Given the description of an element on the screen output the (x, y) to click on. 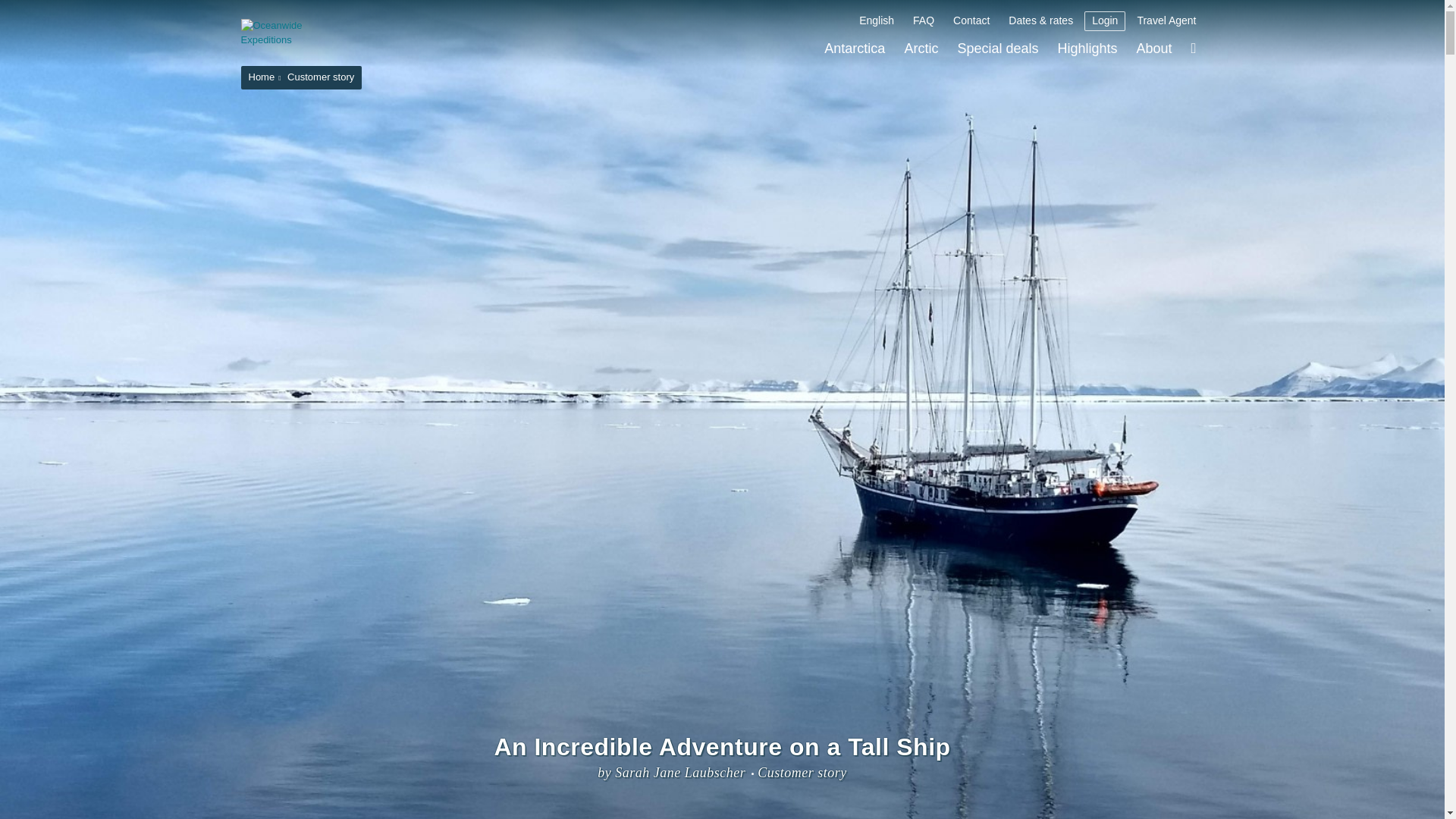
Arctic (920, 48)
Special deals (997, 48)
English (876, 21)
Travel Agent (1166, 21)
Contact (970, 21)
Antarctica (854, 48)
Oceanwide Expeditions (292, 32)
Login (1104, 21)
FAQ (923, 21)
Highlights (1086, 48)
